Given the description of an element on the screen output the (x, y) to click on. 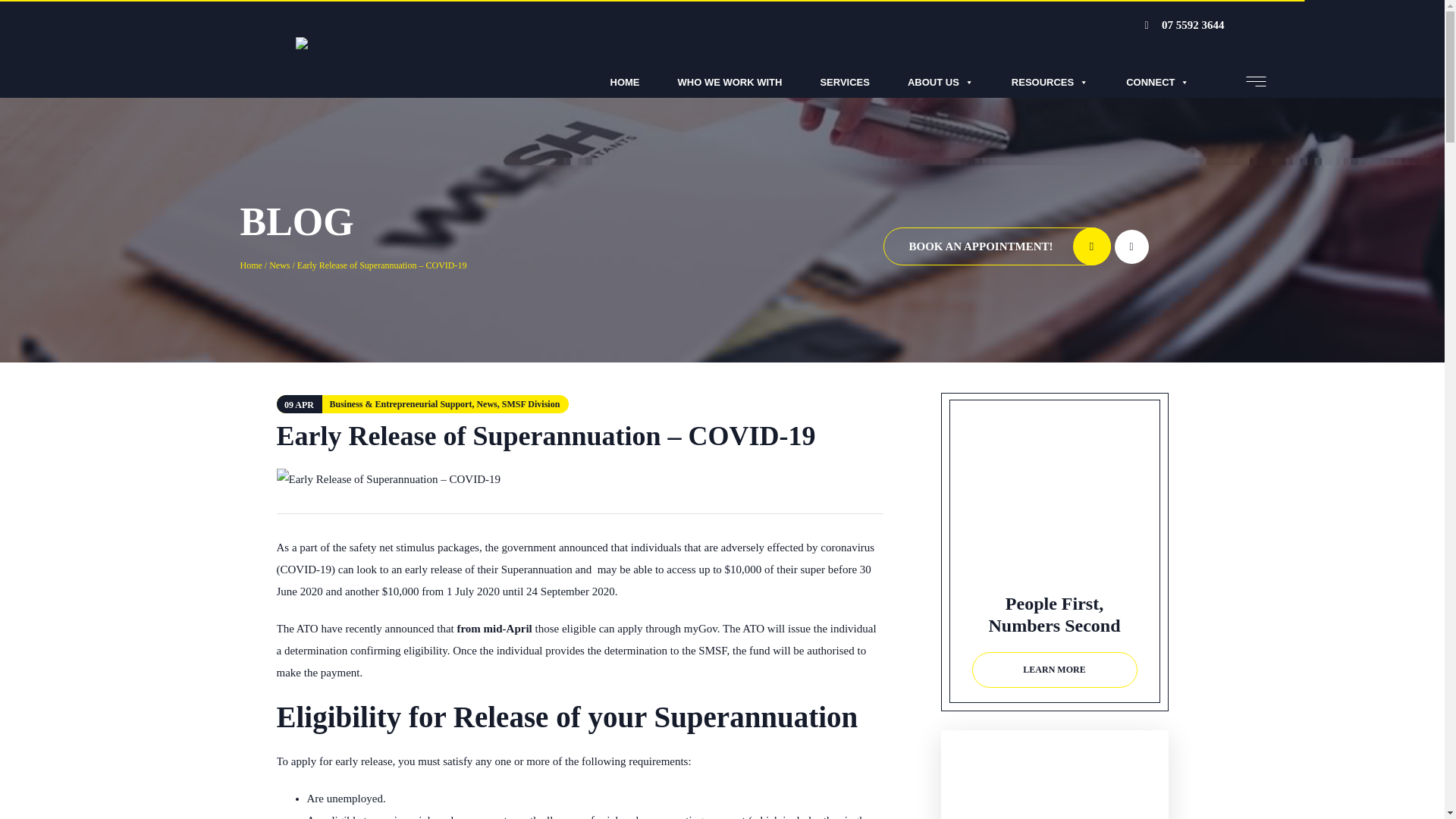
WHO WE WORK WITH (729, 82)
HOME (625, 82)
Home (251, 265)
News (279, 265)
BOOK AN APPOINTMENT! (995, 246)
ABOUT US (940, 82)
Search (1141, 37)
07 5592 3644 (1184, 25)
CONNECT (1157, 82)
SERVICES (845, 82)
